Given the description of an element on the screen output the (x, y) to click on. 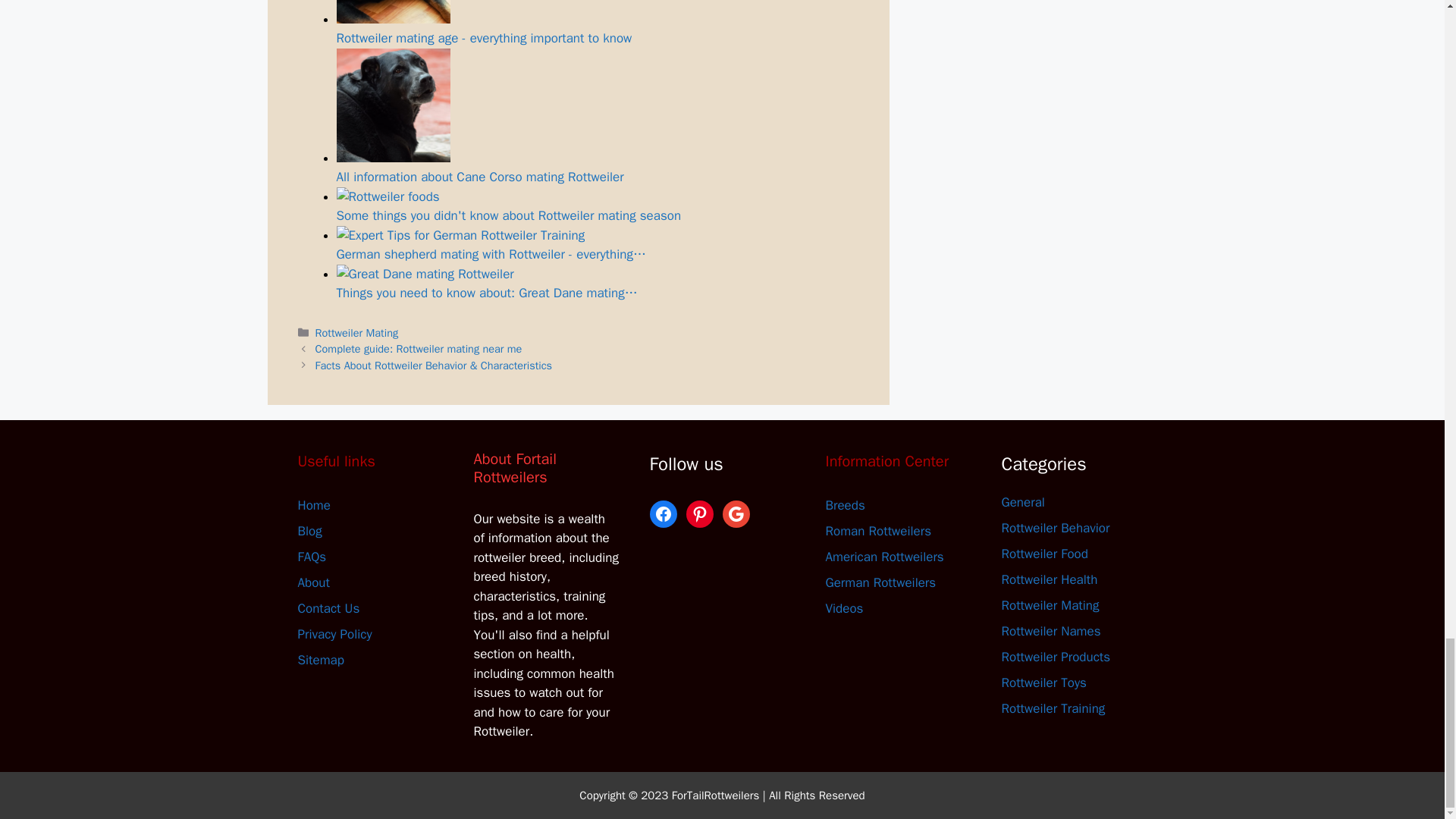
Some things you didn't know about Rottweiler mating season (387, 197)
All information about Cane Corso mating Rottweiler (597, 116)
Rottweiler Mating (356, 332)
Some things you didn't know about Rottweiler mating season (597, 205)
Rottweiler mating age - everything important to know (392, 11)
All information about Cane Corso mating Rottweiler (392, 105)
Rottweiler mating age - everything important to know (597, 23)
